Given the description of an element on the screen output the (x, y) to click on. 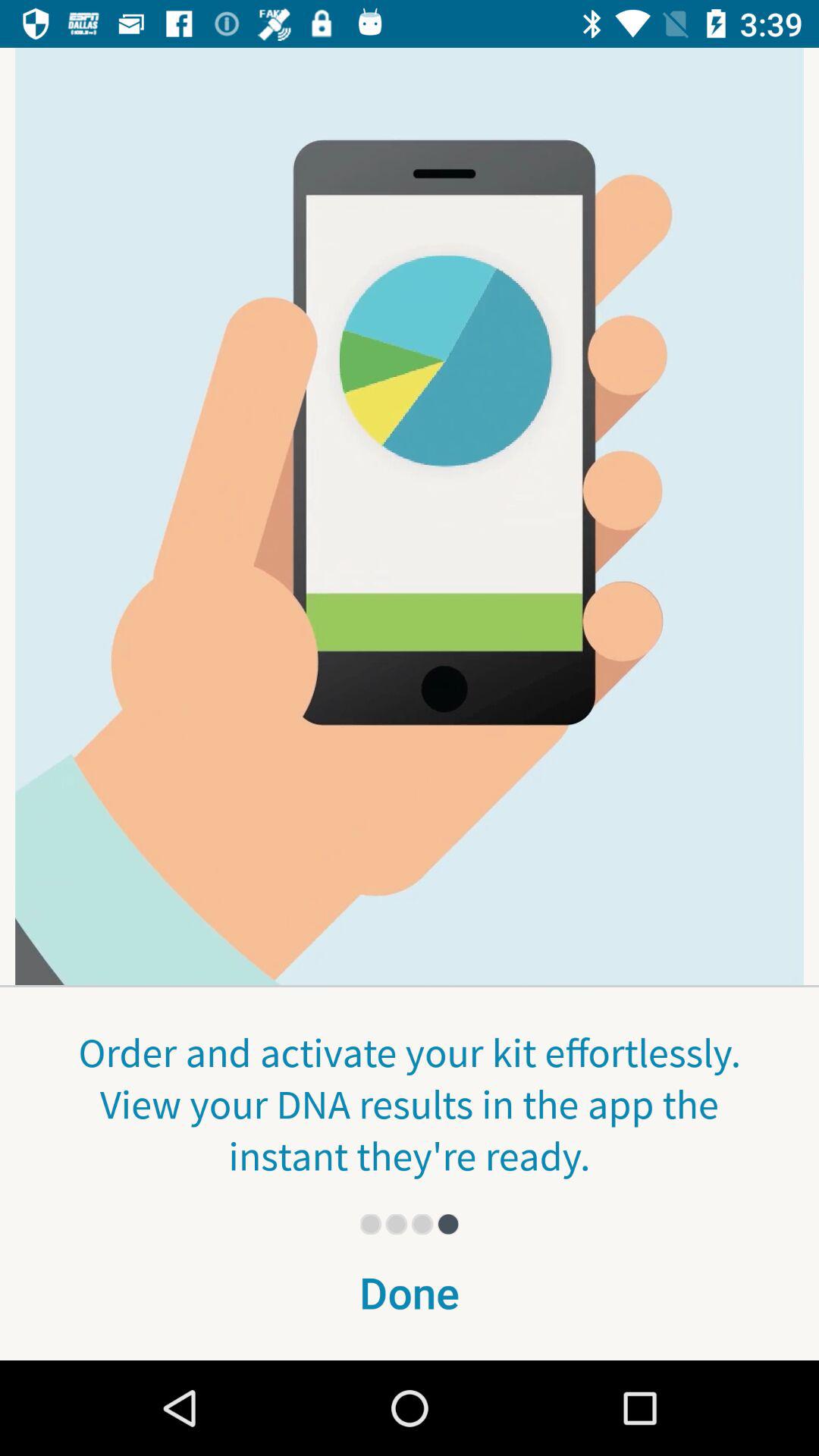
scroll to done item (409, 1302)
